Given the description of an element on the screen output the (x, y) to click on. 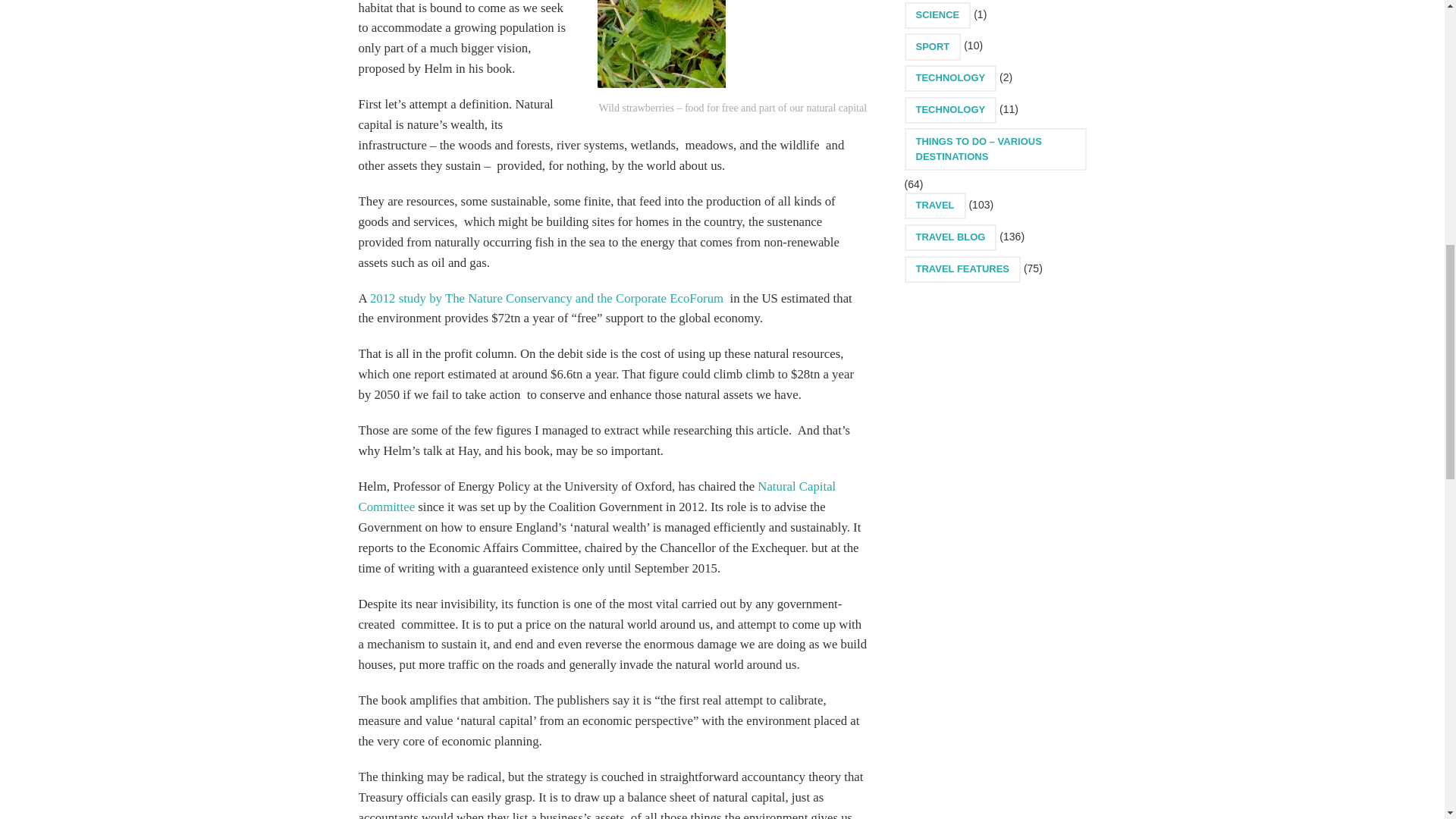
Natural Capital Committee (596, 496)
TECHNOLOGY (949, 110)
SCIENCE (937, 15)
TECHNOLOGY (949, 78)
SPORT (932, 46)
